Given the description of an element on the screen output the (x, y) to click on. 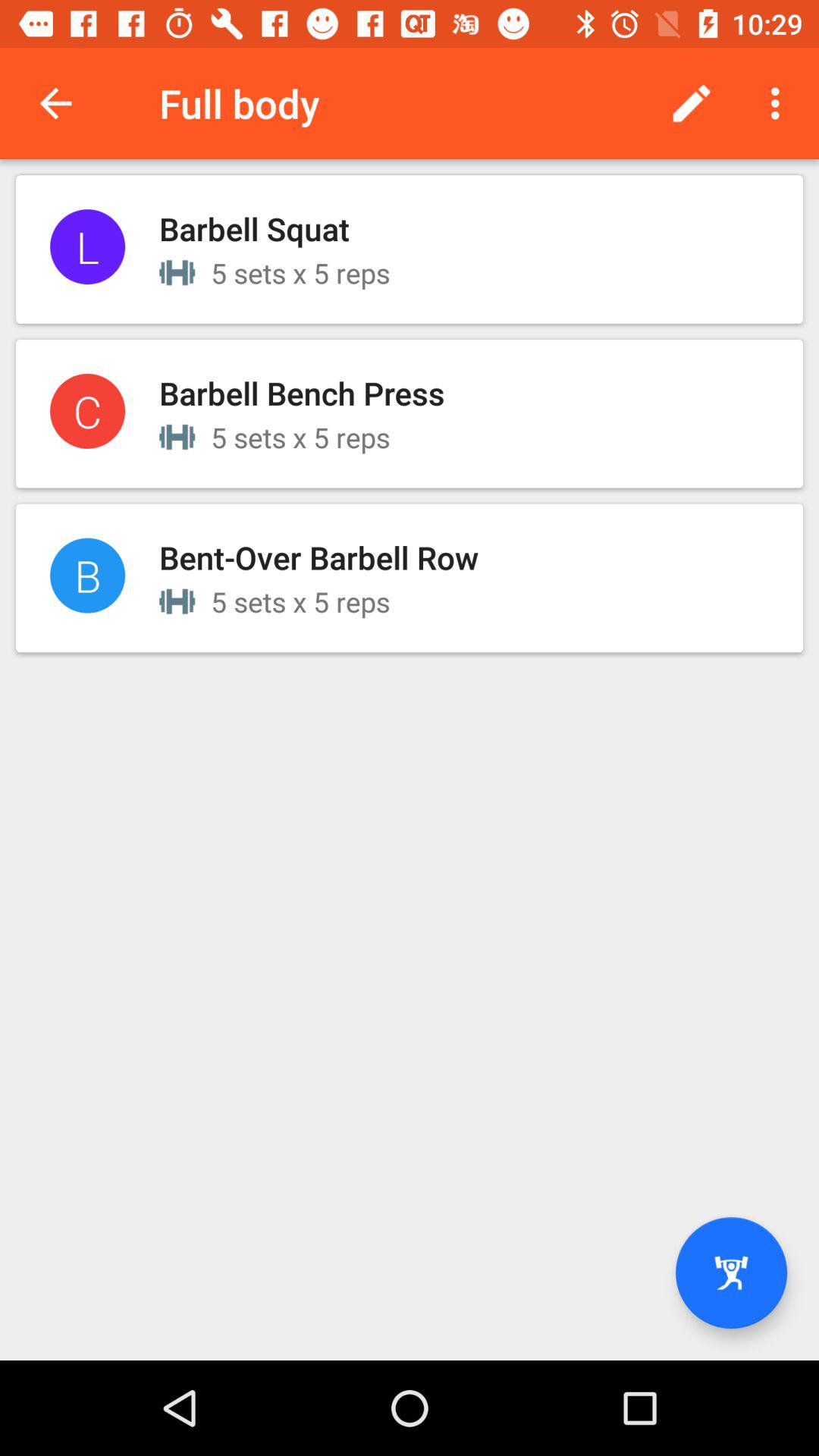
press item to the right of full body icon (691, 103)
